Given the description of an element on the screen output the (x, y) to click on. 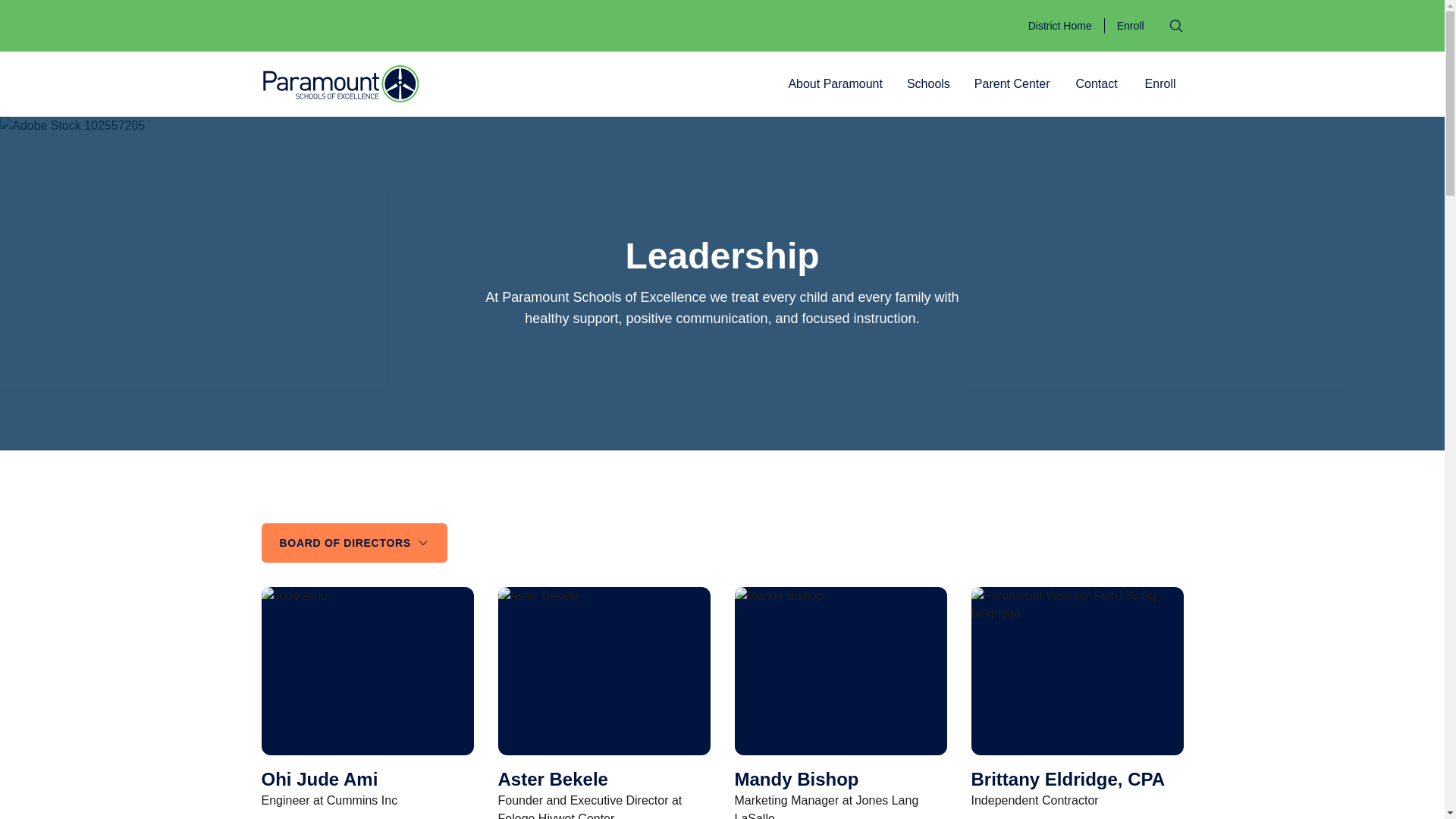
Enroll (1130, 25)
Contact (1095, 83)
Schools (928, 83)
District Home (1059, 25)
Enroll (1160, 83)
Parent Center (1012, 83)
About Paramount (834, 83)
